Given the description of an element on the screen output the (x, y) to click on. 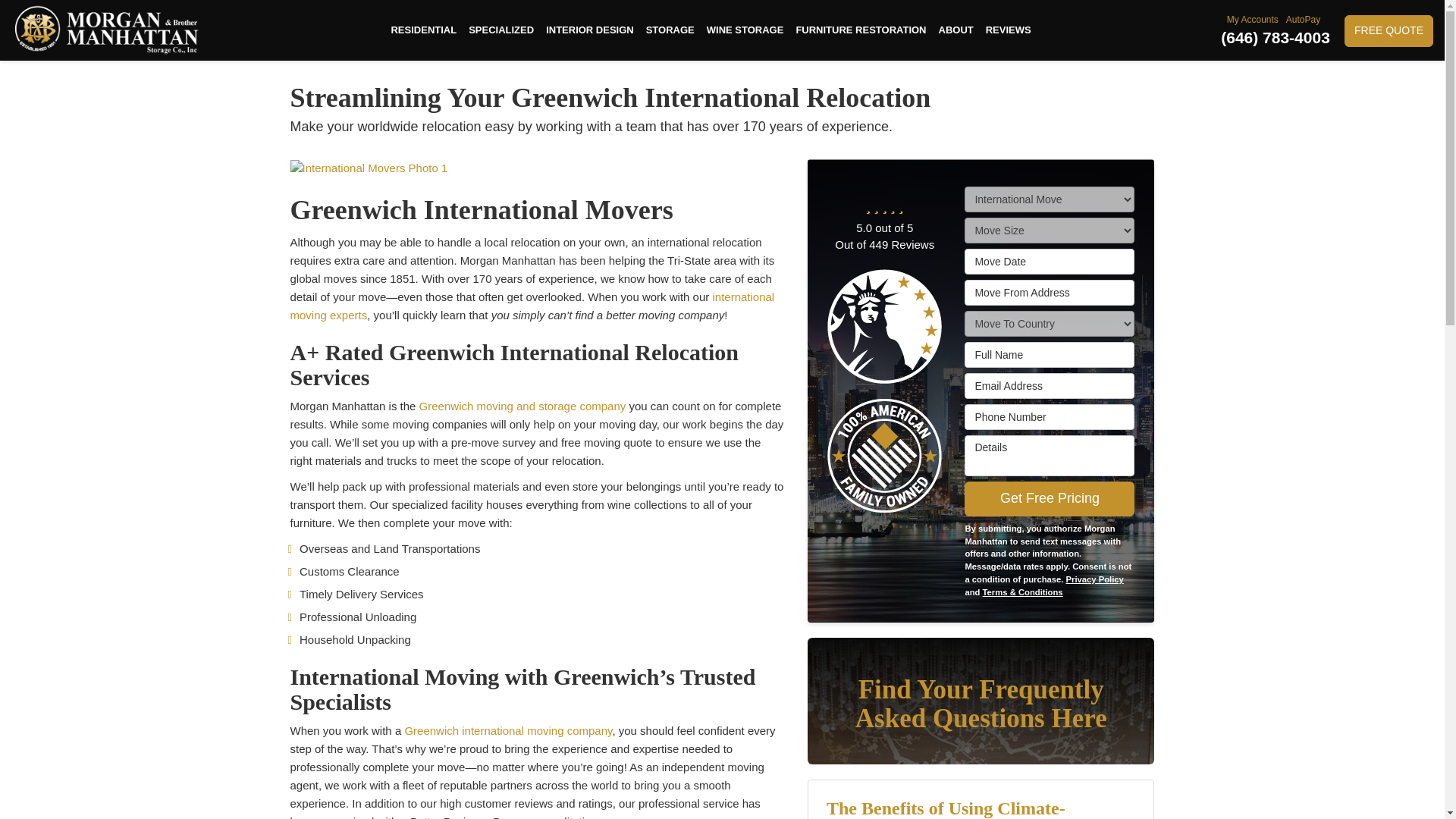
WINE STORAGE (745, 30)
FURNITURE RESTORATION (860, 30)
FREE QUOTE (1387, 30)
FREE QUOTE (1387, 30)
My Accounts (1254, 19)
REVIEWS (1007, 30)
RESIDENTIAL (423, 30)
AutoPay (1304, 19)
STORAGE (670, 30)
INTERIOR DESIGN (590, 30)
SPECIALIZED (501, 30)
